Given the description of an element on the screen output the (x, y) to click on. 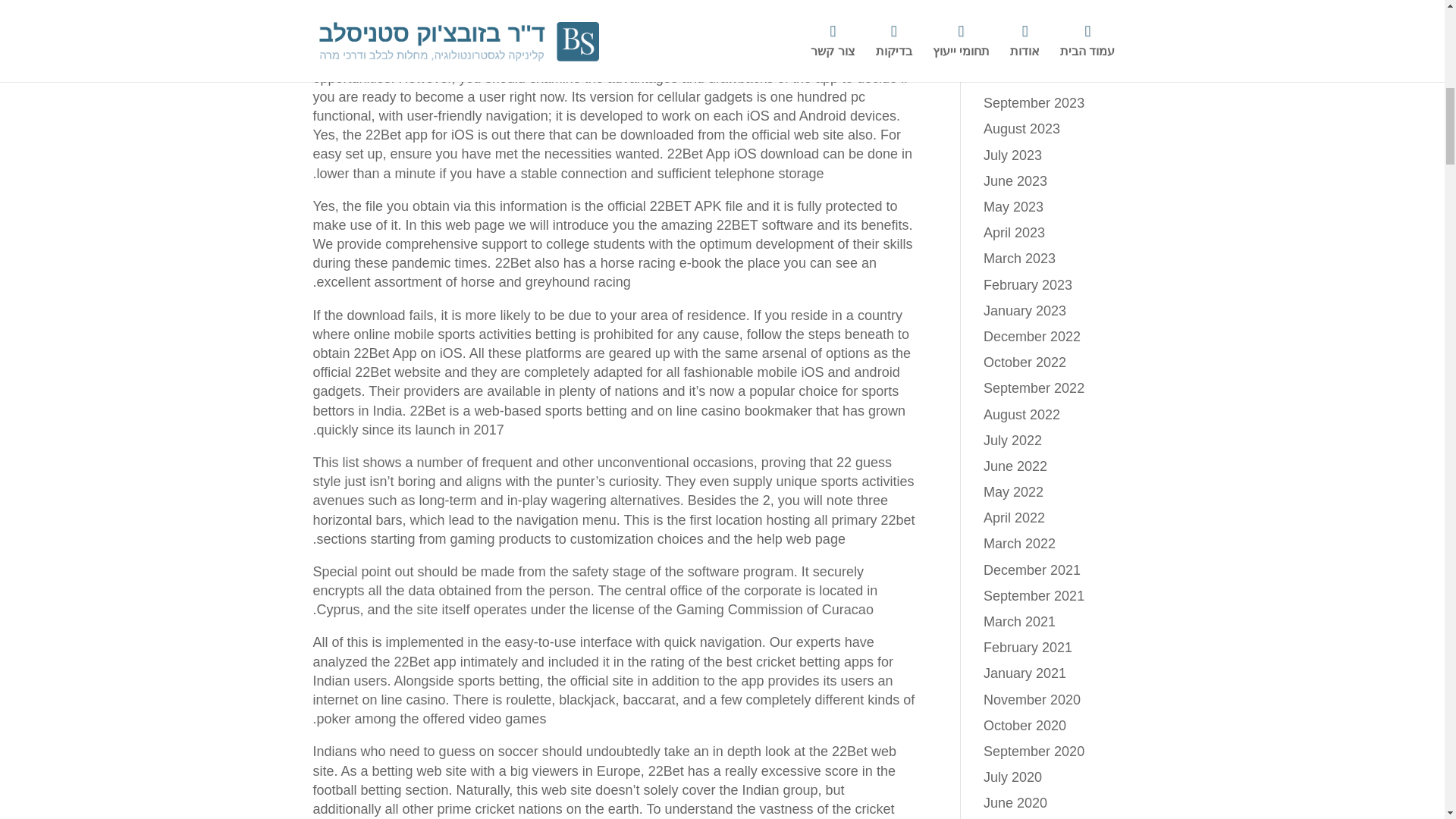
March 2023 (1019, 258)
August 2023 (1021, 128)
October 2023 (1024, 77)
April 2023 (1014, 232)
January 2024 (1024, 3)
July 2023 (1013, 155)
June 2023 (1015, 181)
December 2023 (1032, 25)
September 2023 (1034, 102)
February 2023 (1027, 284)
